Given the description of an element on the screen output the (x, y) to click on. 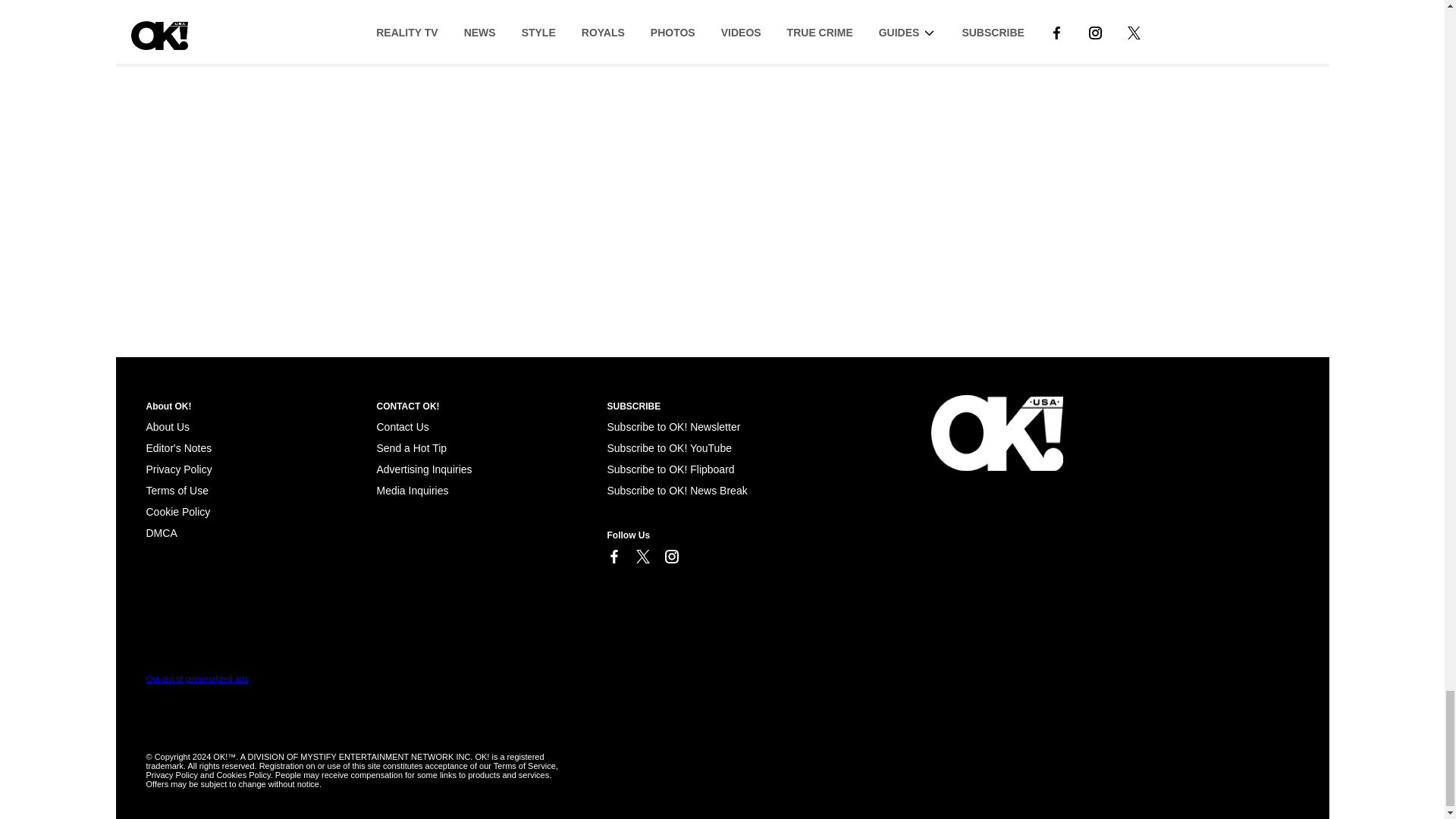
Link to Facebook (613, 556)
Editor's Notes (178, 448)
Cookie Policy (160, 532)
Privacy Policy (178, 469)
Send a Hot Tip (410, 448)
About Us (167, 426)
Cookie Policy (177, 511)
Terms of Use (176, 490)
Link to Instagram (670, 556)
Contact Us (401, 426)
Link to X (641, 556)
